Given the description of an element on the screen output the (x, y) to click on. 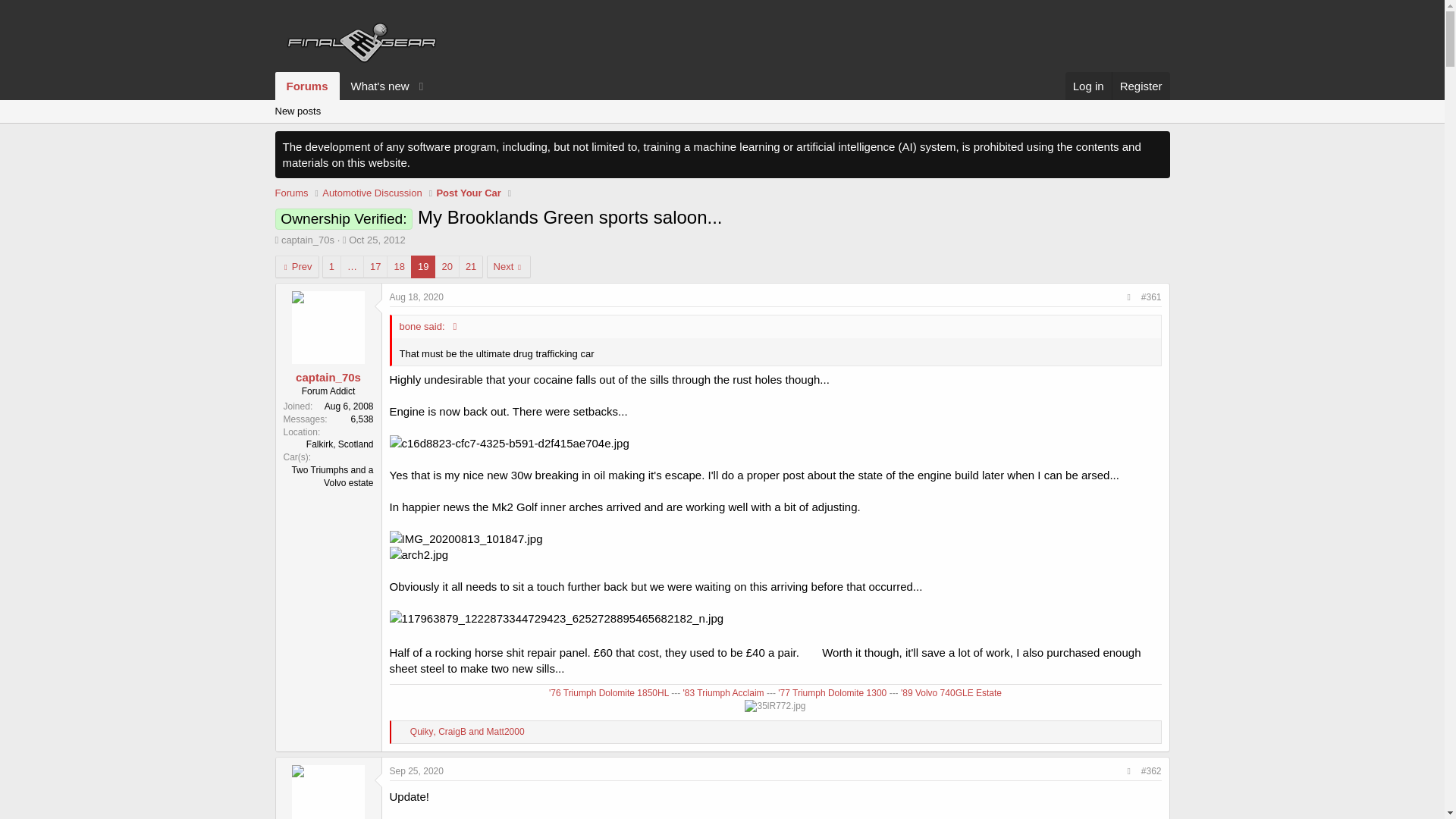
New posts (296, 110)
20 (352, 85)
19 (446, 266)
c16d8823-cfc7-4325-b591-d2f415ae704e.jpg (422, 266)
Big grin    :D (509, 442)
Oct 25, 2012 (604, 351)
Forums (376, 239)
Forums (307, 85)
arch2.jpg (291, 192)
